Given the description of an element on the screen output the (x, y) to click on. 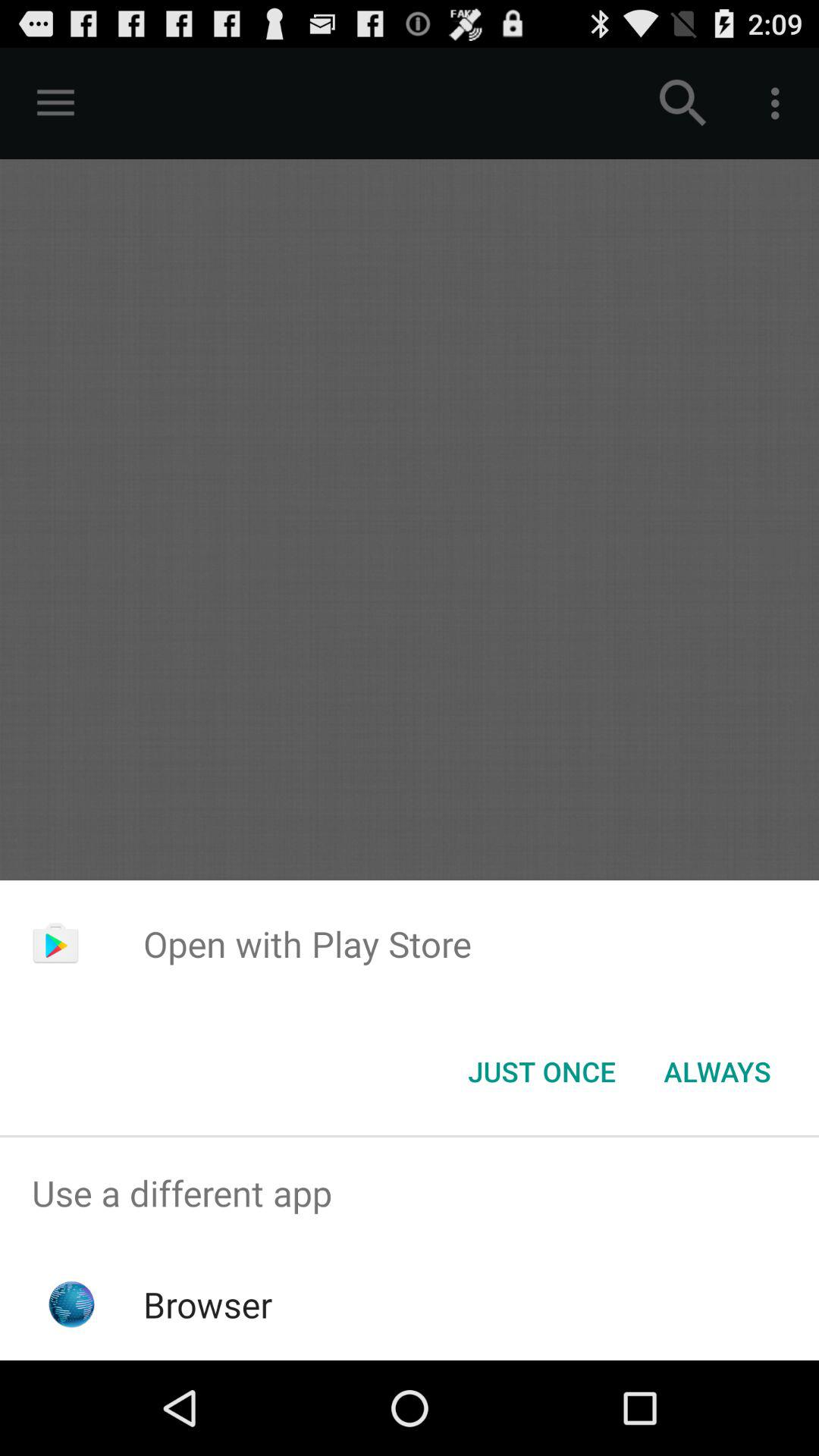
launch the always at the bottom right corner (717, 1071)
